Given the description of an element on the screen output the (x, y) to click on. 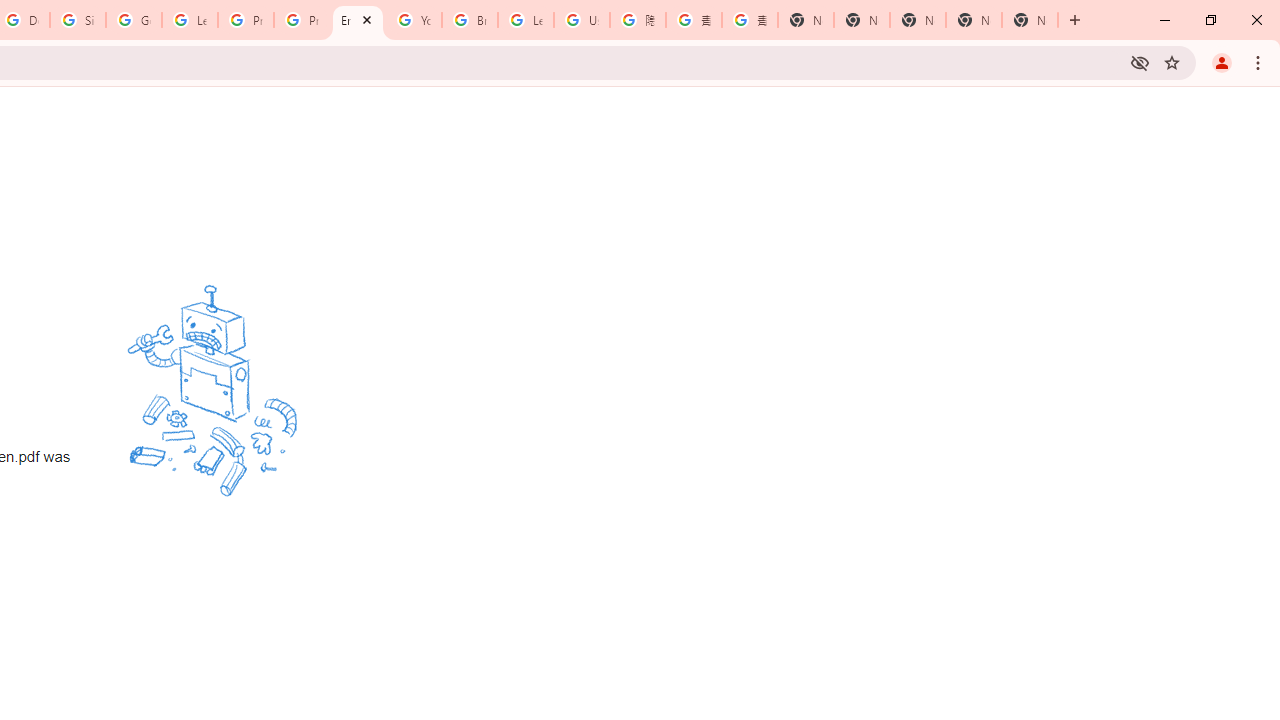
New Tab (1030, 20)
YouTube (413, 20)
Error 404 (Not Found)!!1 (358, 20)
New Tab (806, 20)
Sign in - Google Accounts (77, 20)
